Given the description of an element on the screen output the (x, y) to click on. 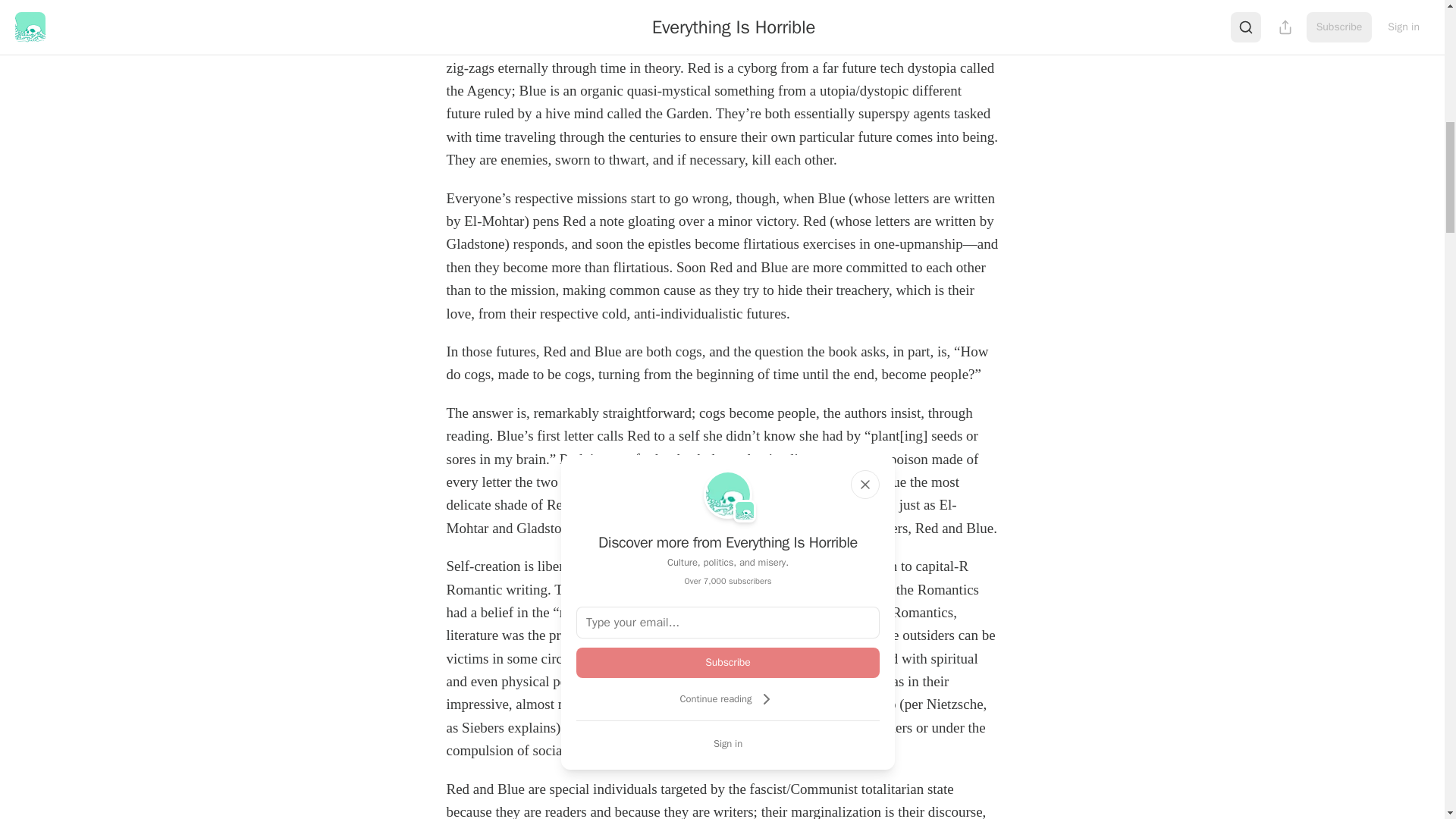
Sign in (727, 743)
Subscribe (727, 662)
